Given the description of an element on the screen output the (x, y) to click on. 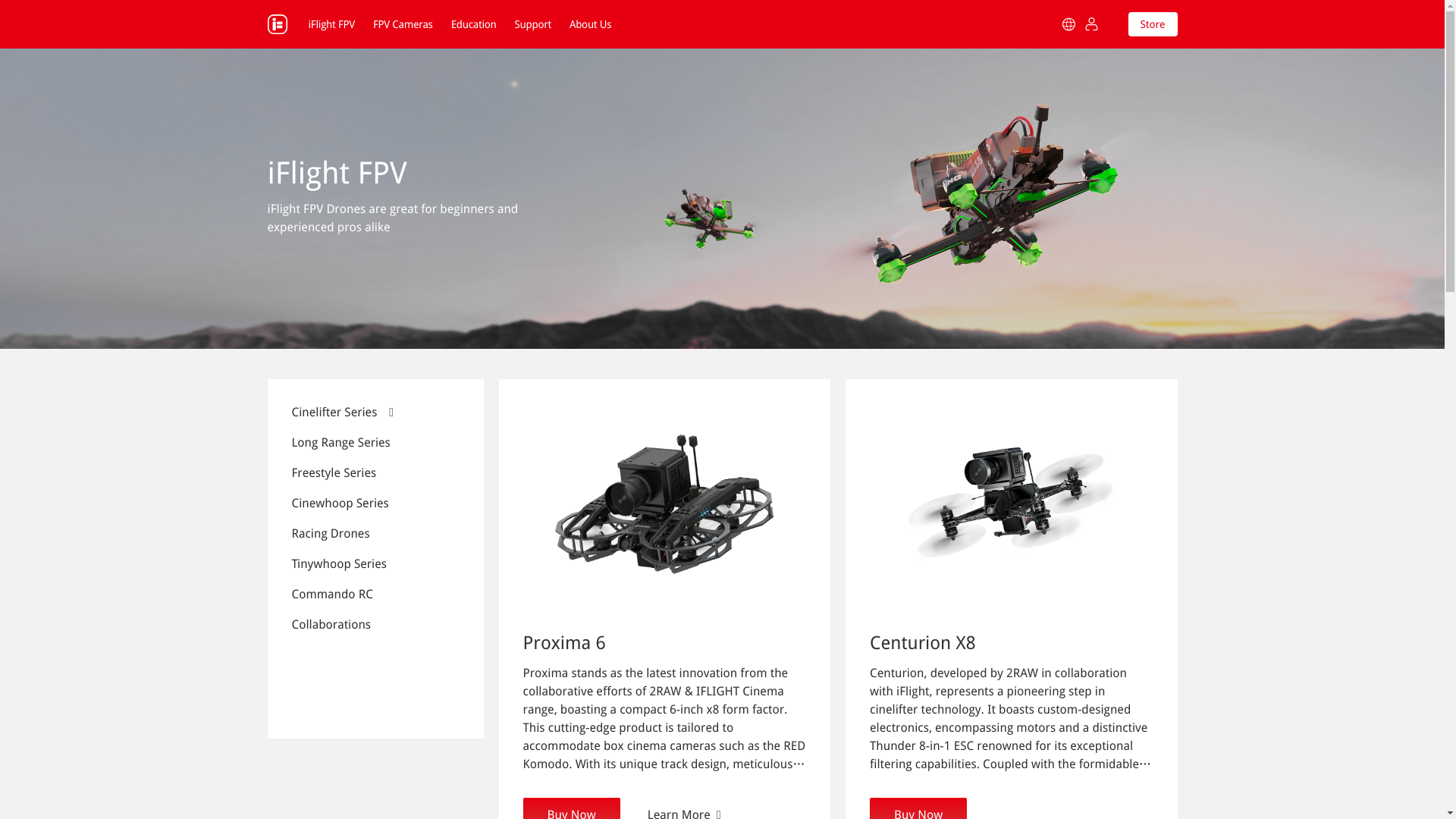
iFlight FPV (330, 23)
